Given the description of an element on the screen output the (x, y) to click on. 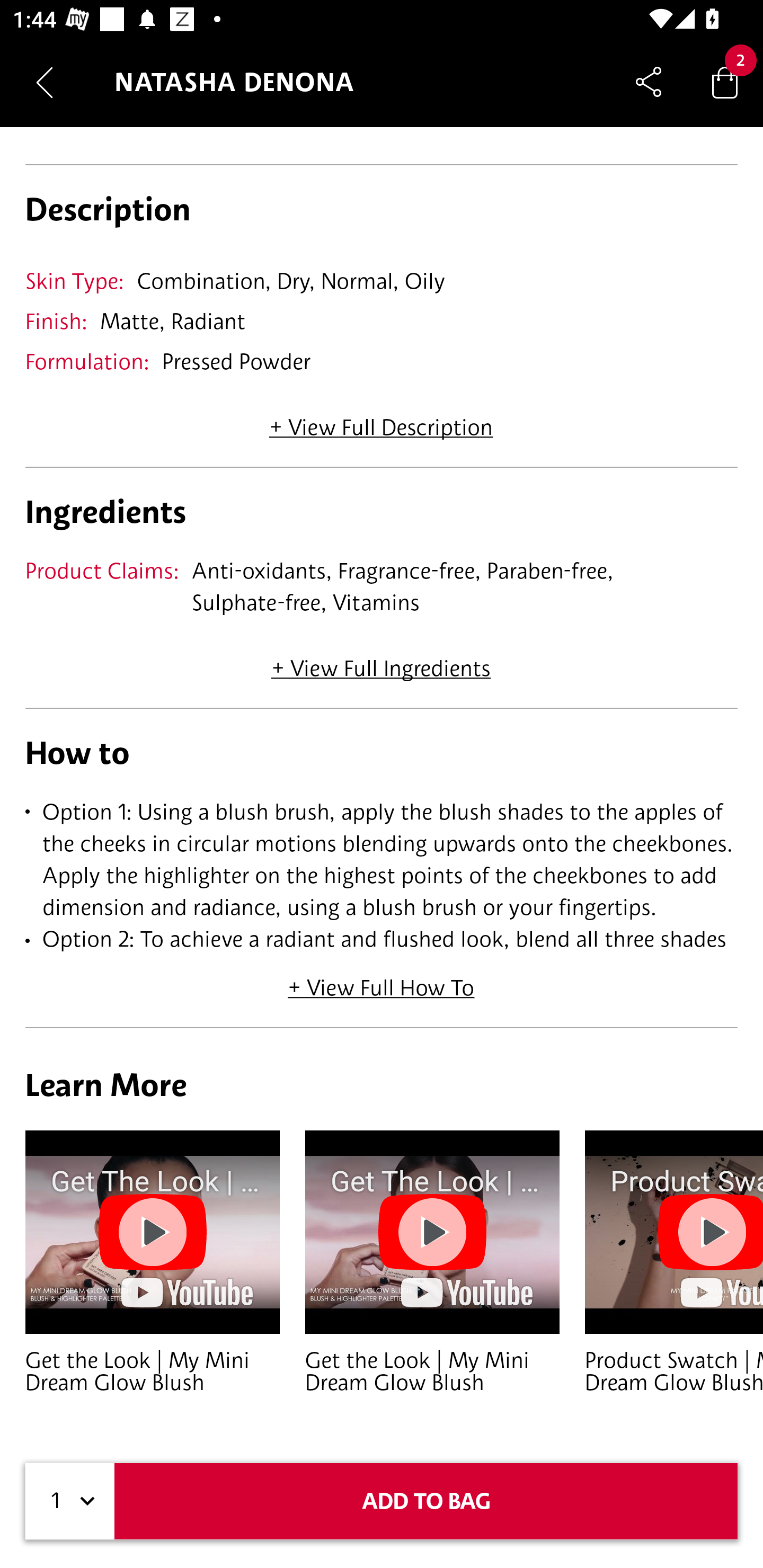
Navigate up (44, 82)
Share (648, 81)
Bag (724, 81)
+ View Full Description (380, 420)
+ View Full Ingredients (380, 661)
+ View Full How To (381, 981)
Play (152, 1231)
Play (432, 1231)
Play (710, 1231)
1 (69, 1500)
ADD TO BAG (425, 1500)
